Given the description of an element on the screen output the (x, y) to click on. 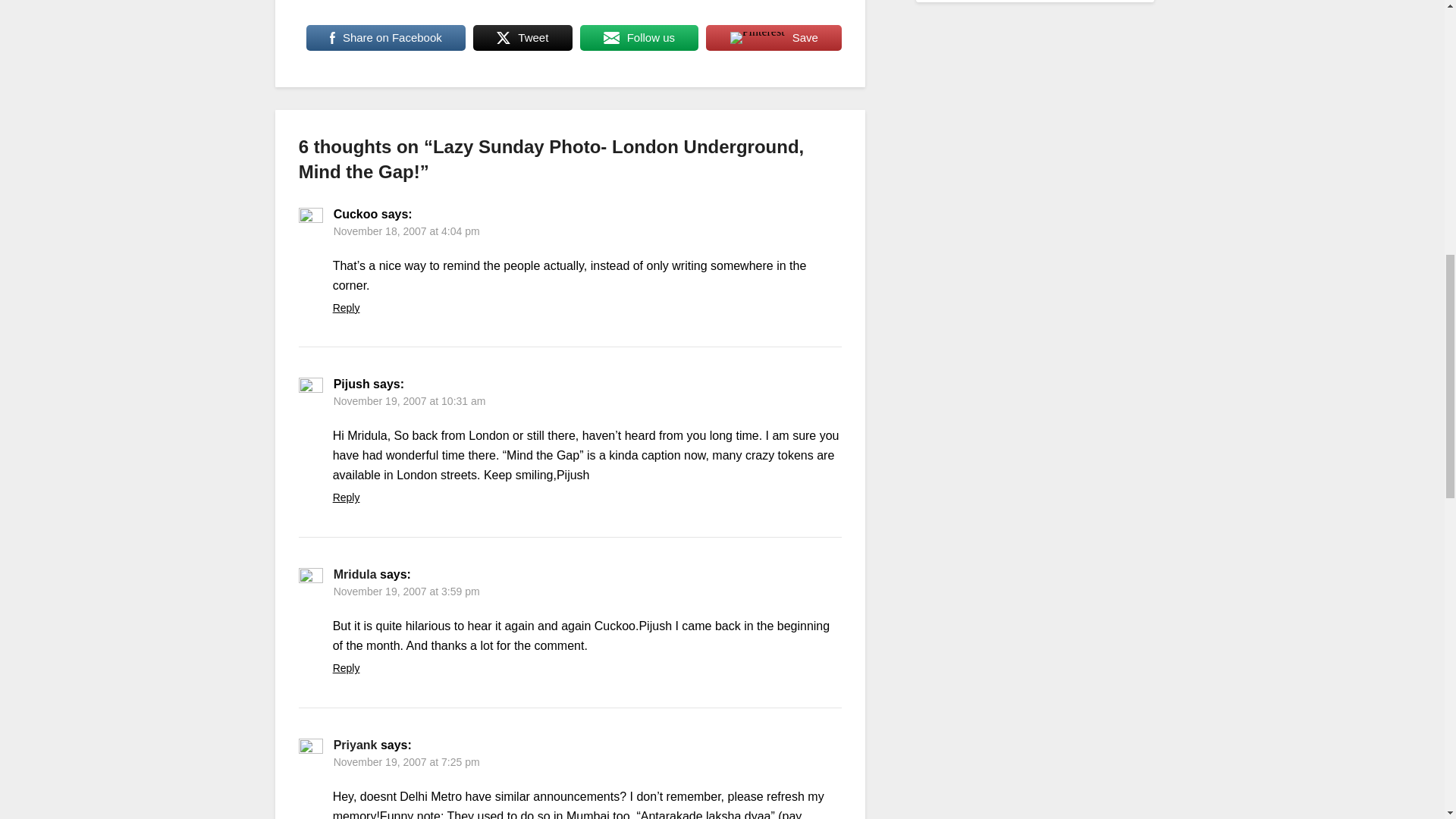
Reply (346, 667)
Reply (346, 497)
November 19, 2007 at 10:31 am (409, 400)
Tweet (522, 37)
November 19, 2007 at 3:59 pm (406, 591)
Priyank (355, 744)
Share on Facebook (385, 37)
Mridula (355, 574)
Reply (346, 307)
November 19, 2007 at 7:25 pm (406, 761)
Follow us (638, 37)
November 18, 2007 at 4:04 pm (406, 231)
Save (773, 37)
